Given the description of an element on the screen output the (x, y) to click on. 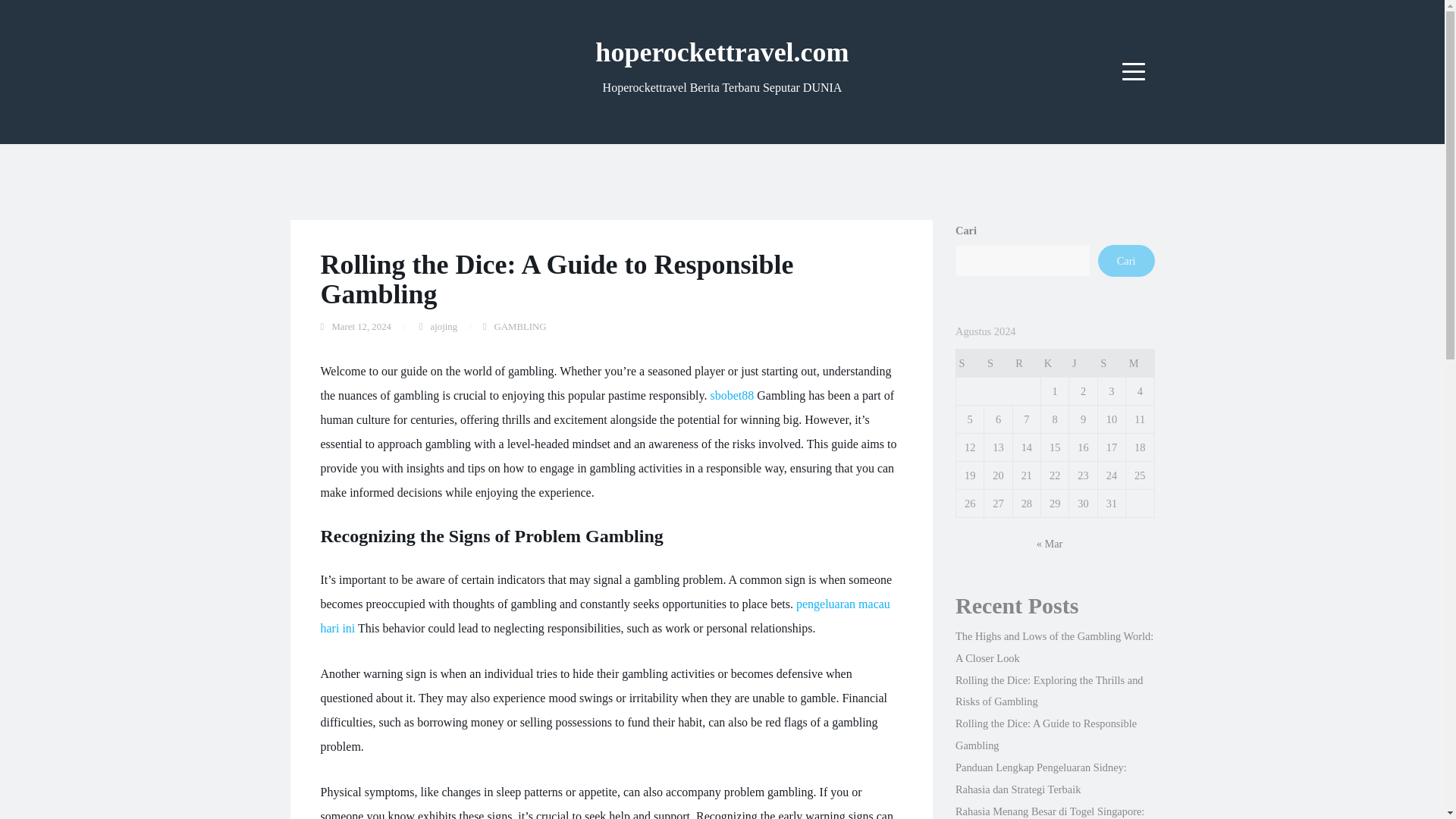
Selasa (997, 363)
GAMBLING (521, 326)
sbobet88 (732, 395)
pengeluaran macau hari ini (604, 615)
Senin (969, 363)
hoperockettravel.com (721, 51)
Rolling the Dice: A Guide to Responsible Gambling (1046, 734)
Menu (1133, 71)
Jumat (1082, 363)
